Given the description of an element on the screen output the (x, y) to click on. 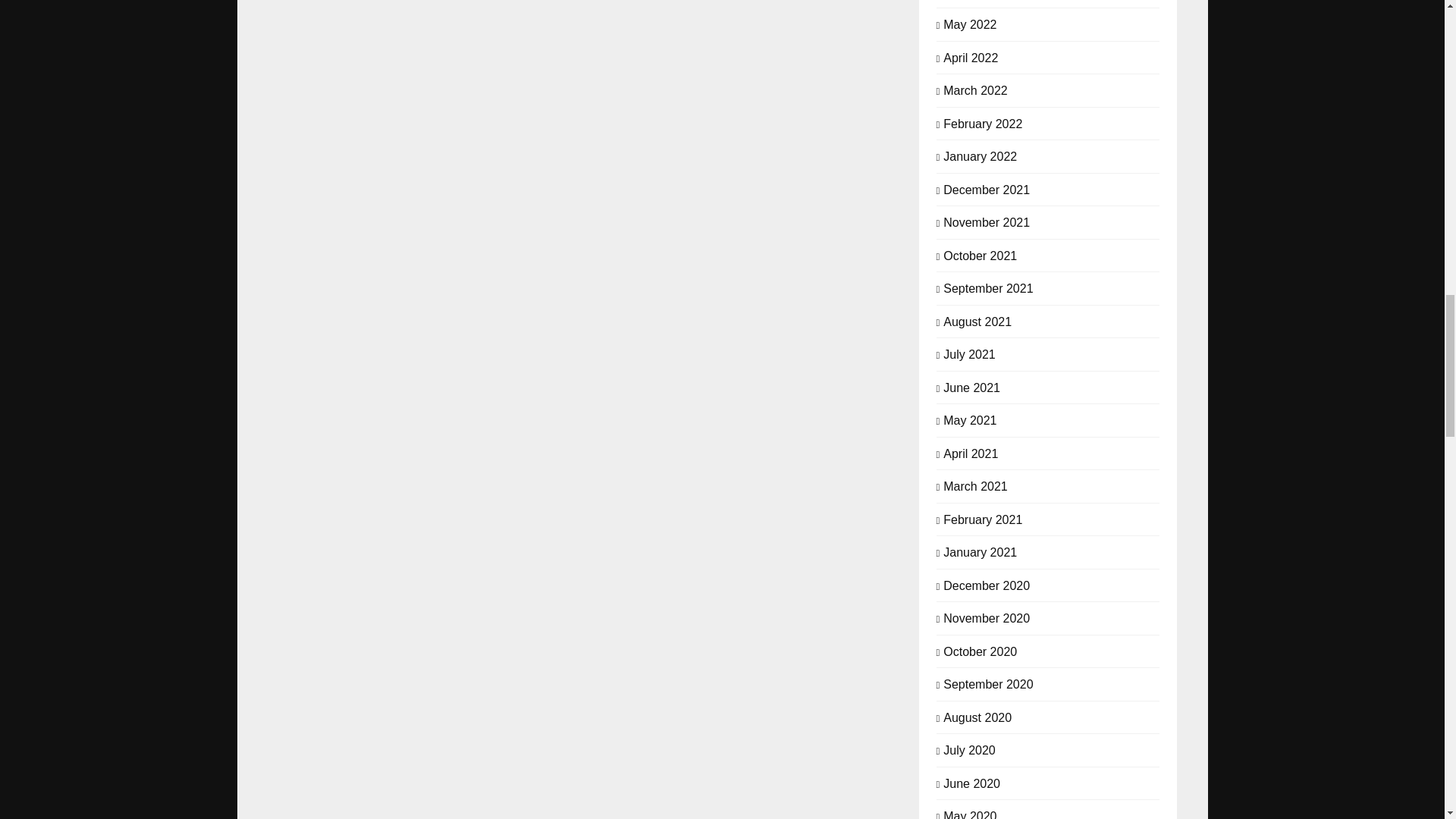
May 2022 (969, 23)
